Given the description of an element on the screen output the (x, y) to click on. 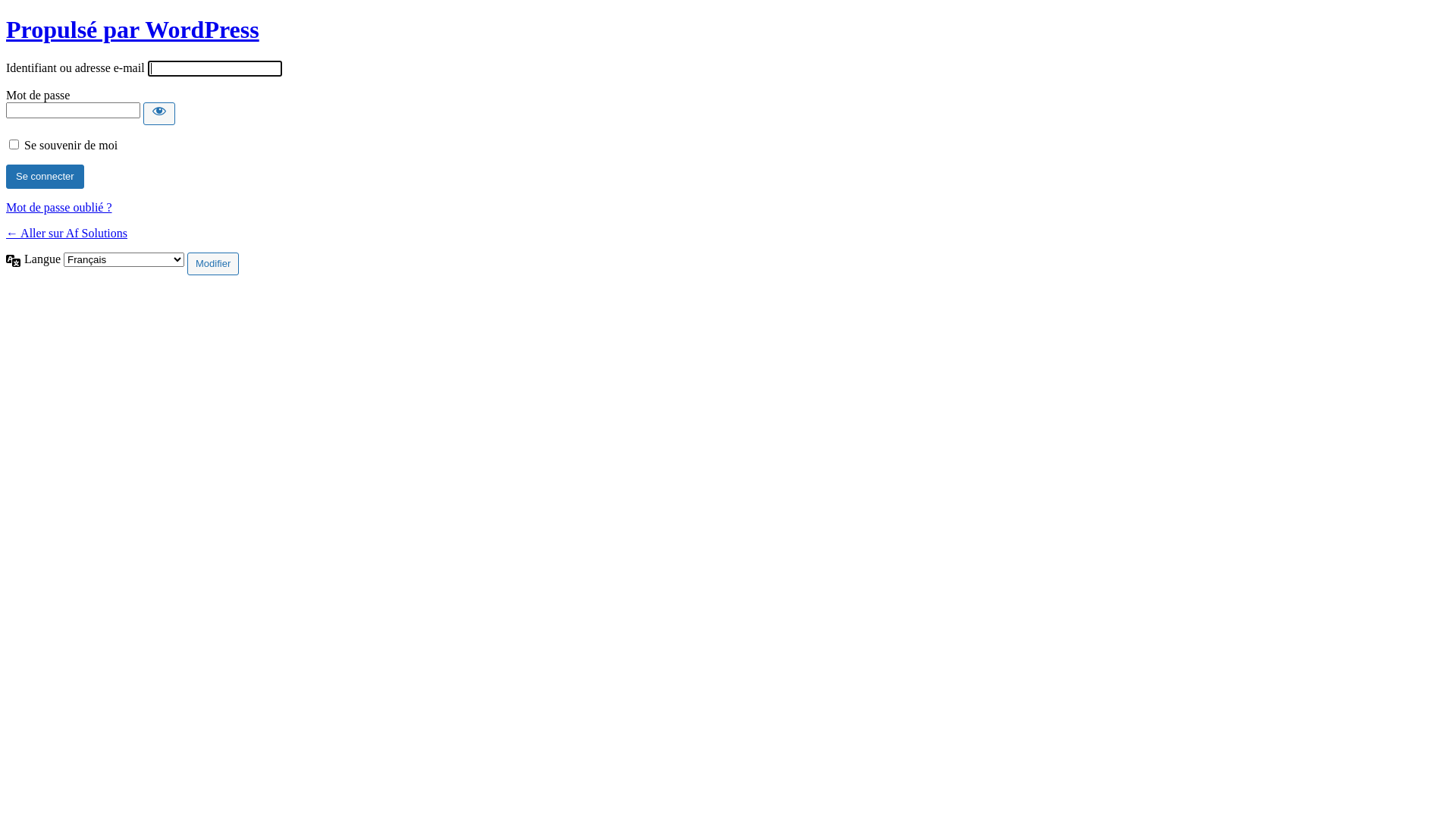
Modifier Element type: text (212, 263)
Se connecter Element type: text (45, 176)
